Given the description of an element on the screen output the (x, y) to click on. 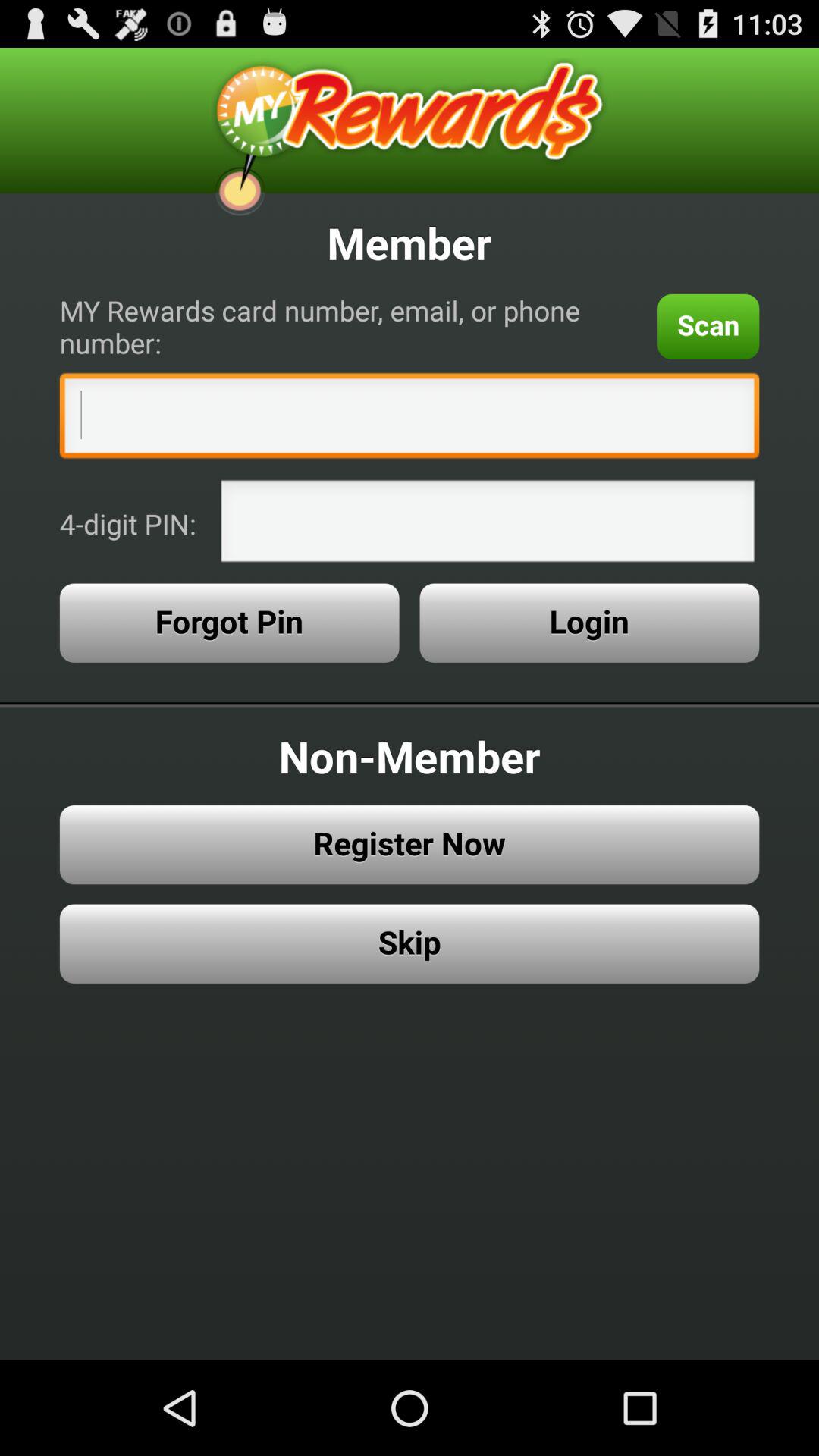
launch login item (589, 622)
